Given the description of an element on the screen output the (x, y) to click on. 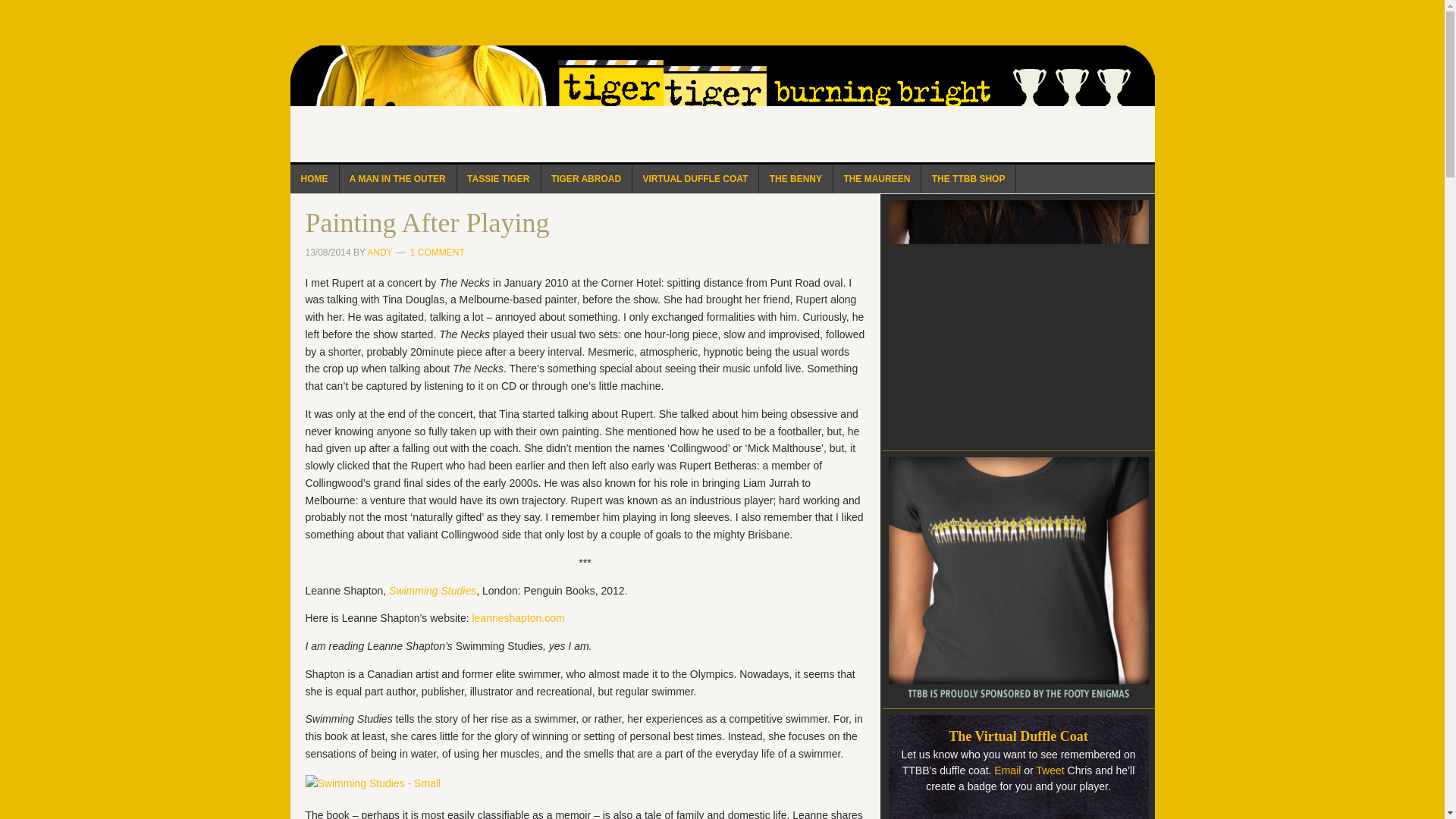
A MAN IN THE OUTER (398, 178)
Swimming Studies (432, 589)
leanneshapton.com (516, 617)
ANDY (378, 252)
TIGER ABROAD (585, 178)
TASSIE TIGER (498, 178)
Painting After Playing (426, 223)
VIRTUAL DUFFLE COAT (694, 178)
THE BENNY (795, 178)
1 COMMENT (437, 252)
